Given the description of an element on the screen output the (x, y) to click on. 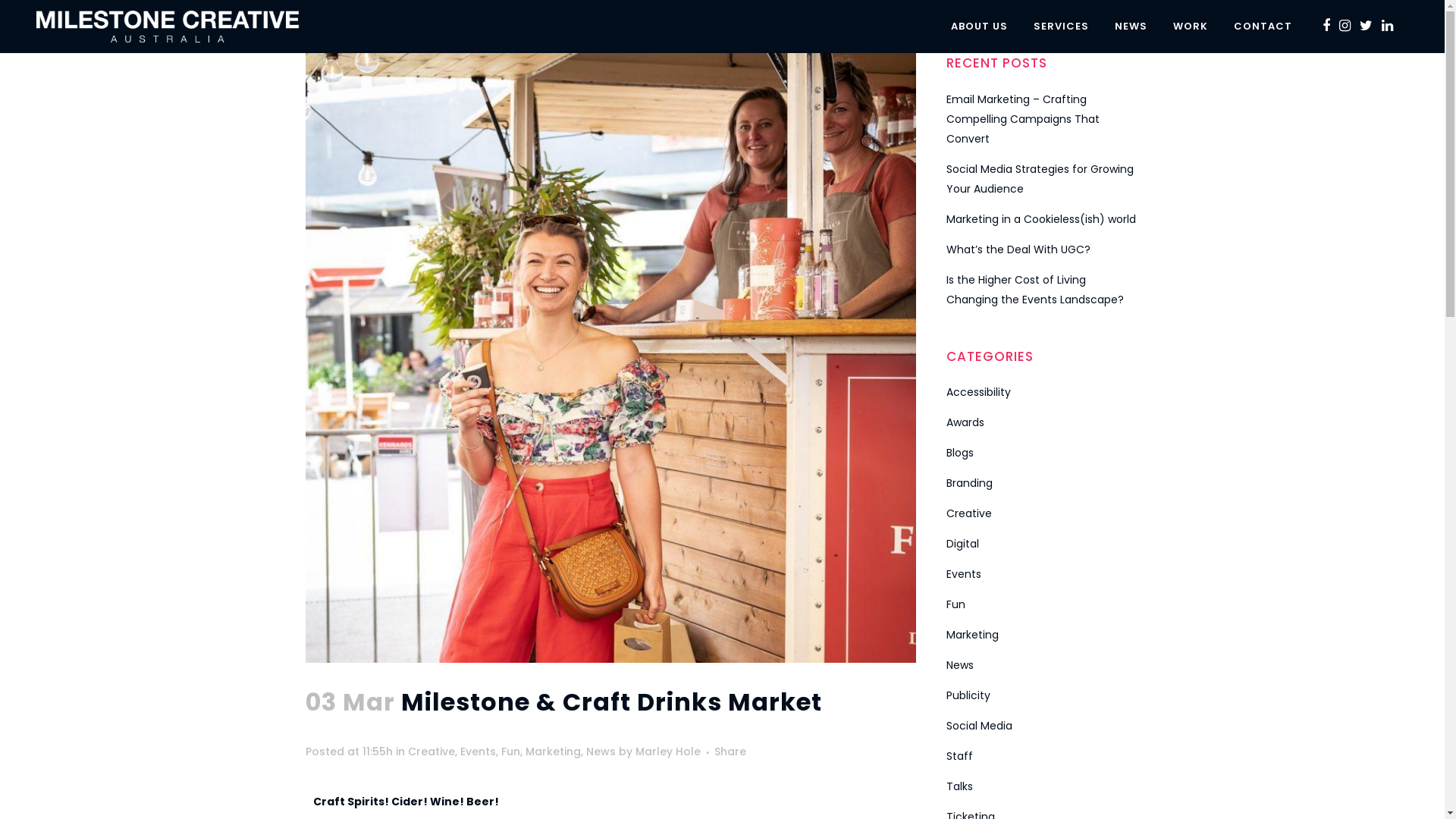
Marley Hole Element type: text (667, 751)
Branding Element type: text (969, 482)
Marketing Element type: text (972, 634)
Publicity Element type: text (968, 694)
Staff Element type: text (959, 755)
News Element type: text (959, 664)
Share Element type: text (730, 751)
Is the Higher Cost of Living Changing the Events Landscape? Element type: text (1034, 289)
Events Element type: text (963, 573)
Talks Element type: text (959, 785)
SERVICES Element type: text (1060, 26)
Social Media Element type: text (979, 725)
Blogs Element type: text (959, 452)
Social Media Strategies for Growing Your Audience Element type: text (1039, 178)
Fun Element type: text (955, 603)
ABOUT US Element type: text (979, 26)
News Element type: text (600, 751)
Accessibility Element type: text (978, 391)
Awards Element type: text (965, 421)
Marketing in a Cookieless(ish) world Element type: text (1040, 218)
NEWS Element type: text (1130, 26)
Events Element type: text (477, 751)
CONTACT Element type: text (1262, 26)
Creative Element type: text (431, 751)
Marketing Element type: text (552, 751)
Digital Element type: text (962, 543)
WORK Element type: text (1190, 26)
Fun Element type: text (509, 751)
Creative Element type: text (968, 512)
